Given the description of an element on the screen output the (x, y) to click on. 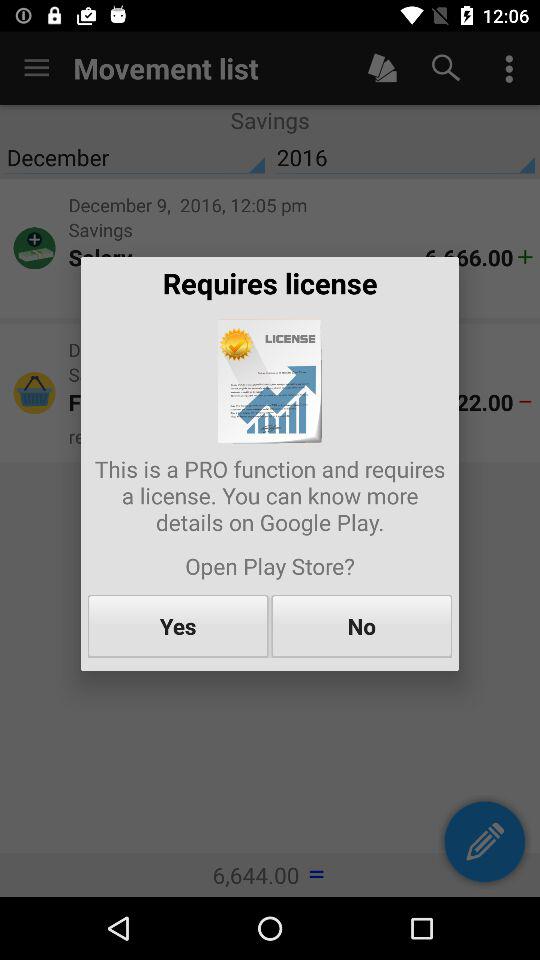
click the item next to no icon (177, 625)
